Given the description of an element on the screen output the (x, y) to click on. 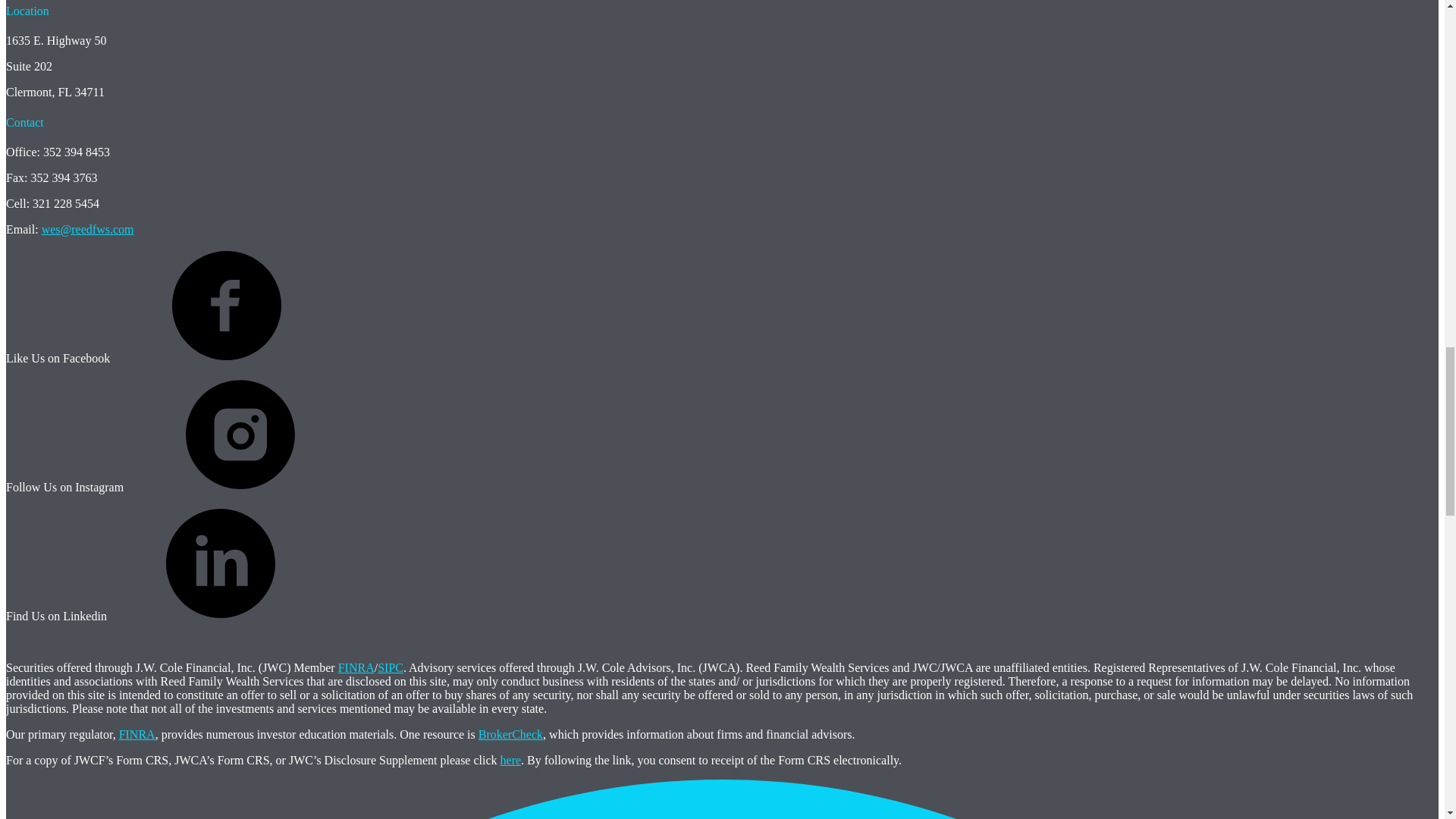
FINRA (137, 734)
here (510, 759)
SIPC (390, 667)
BrokerCheck (511, 734)
FINRA (355, 667)
